Given the description of an element on the screen output the (x, y) to click on. 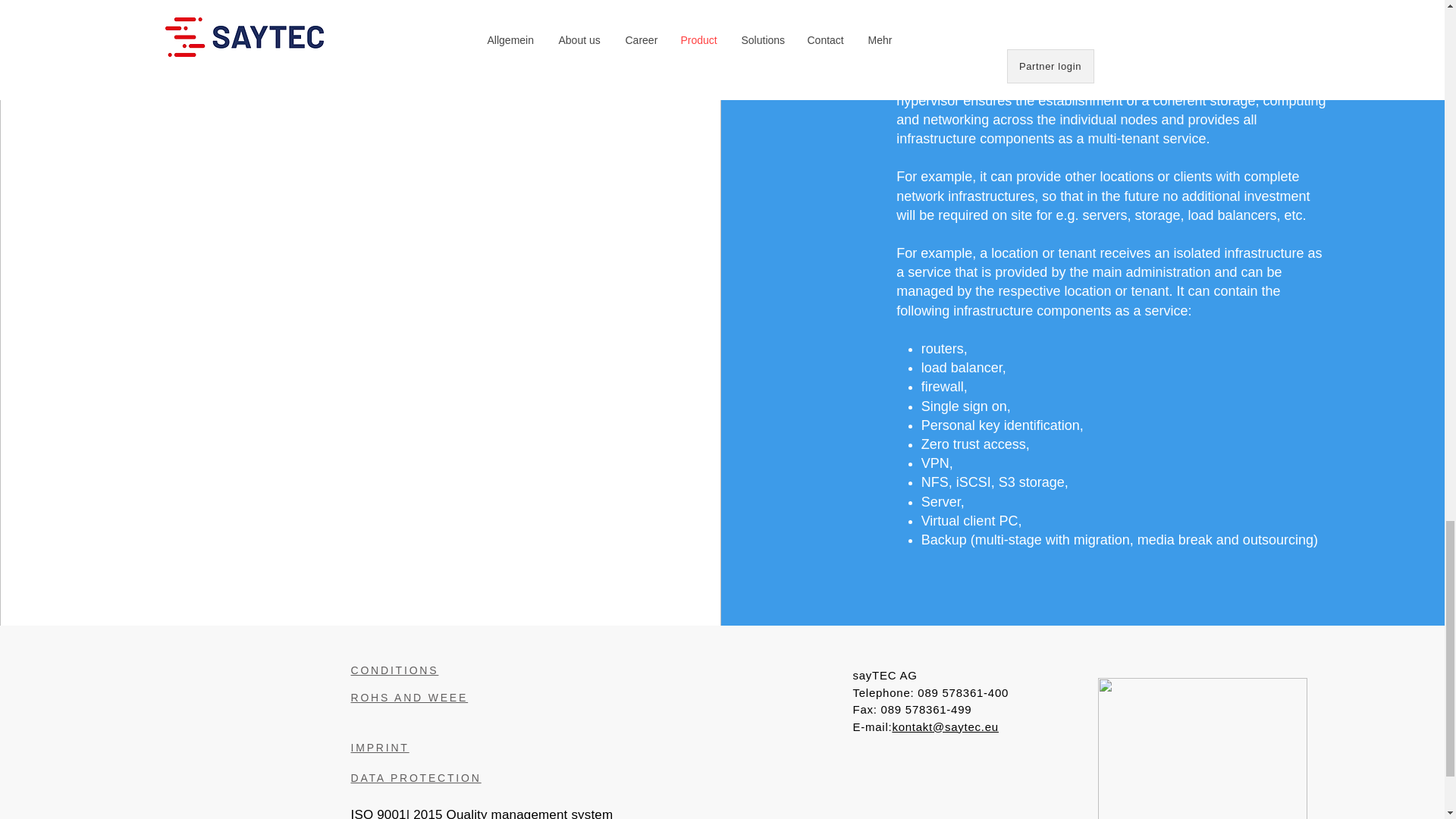
ROHS AND WEEE (408, 697)
CONDITIONS (394, 670)
DATA PROTECTION (415, 777)
IMPRINT (379, 747)
